Given the description of an element on the screen output the (x, y) to click on. 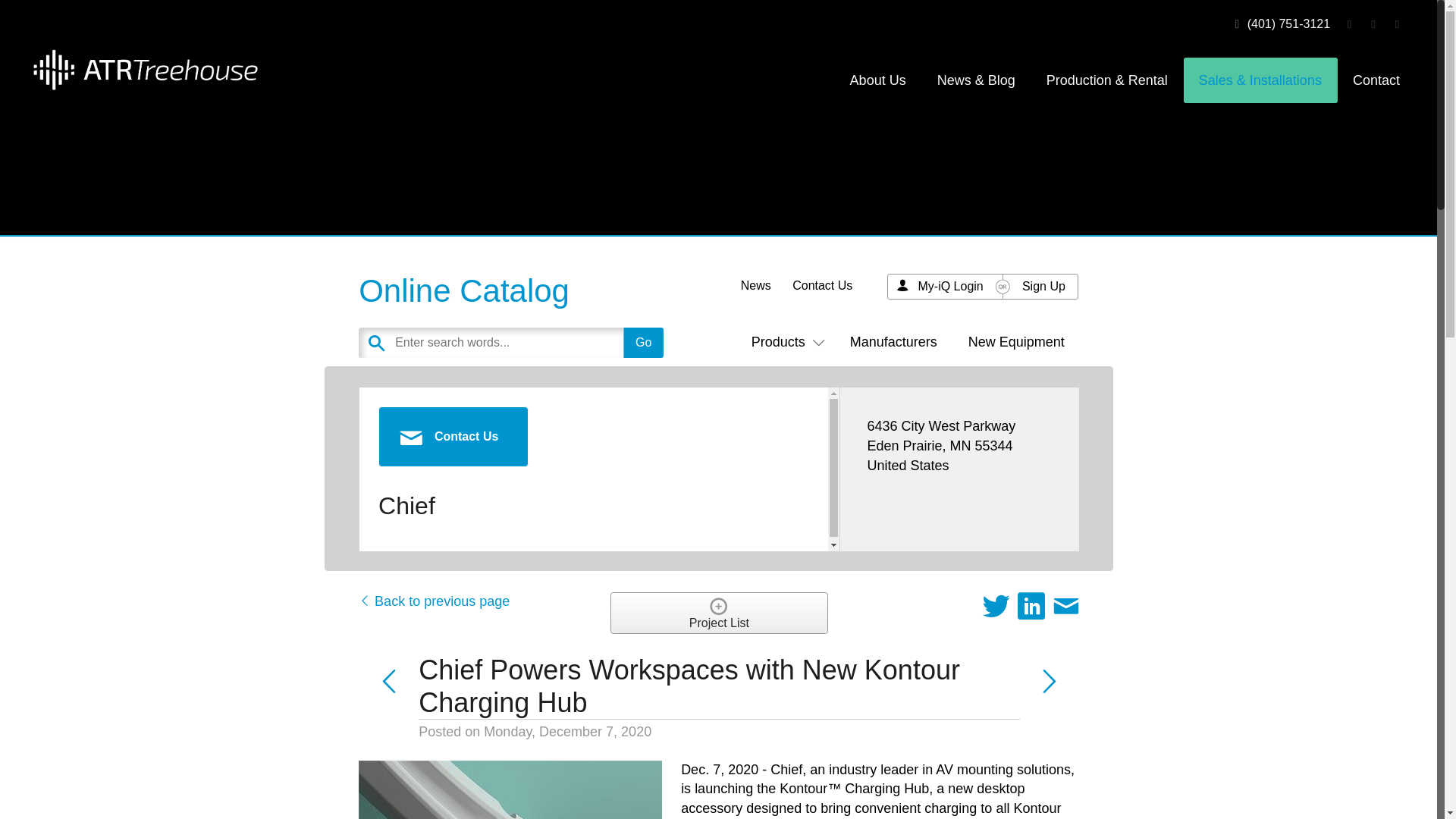
Go (643, 342)
Facebook (1348, 23)
LinkedIn (1373, 23)
About Us (877, 80)
Go (643, 342)
Contact (1376, 80)
Instagram (1397, 23)
Enter search words... (547, 342)
ATR (144, 68)
